Given the description of an element on the screen output the (x, y) to click on. 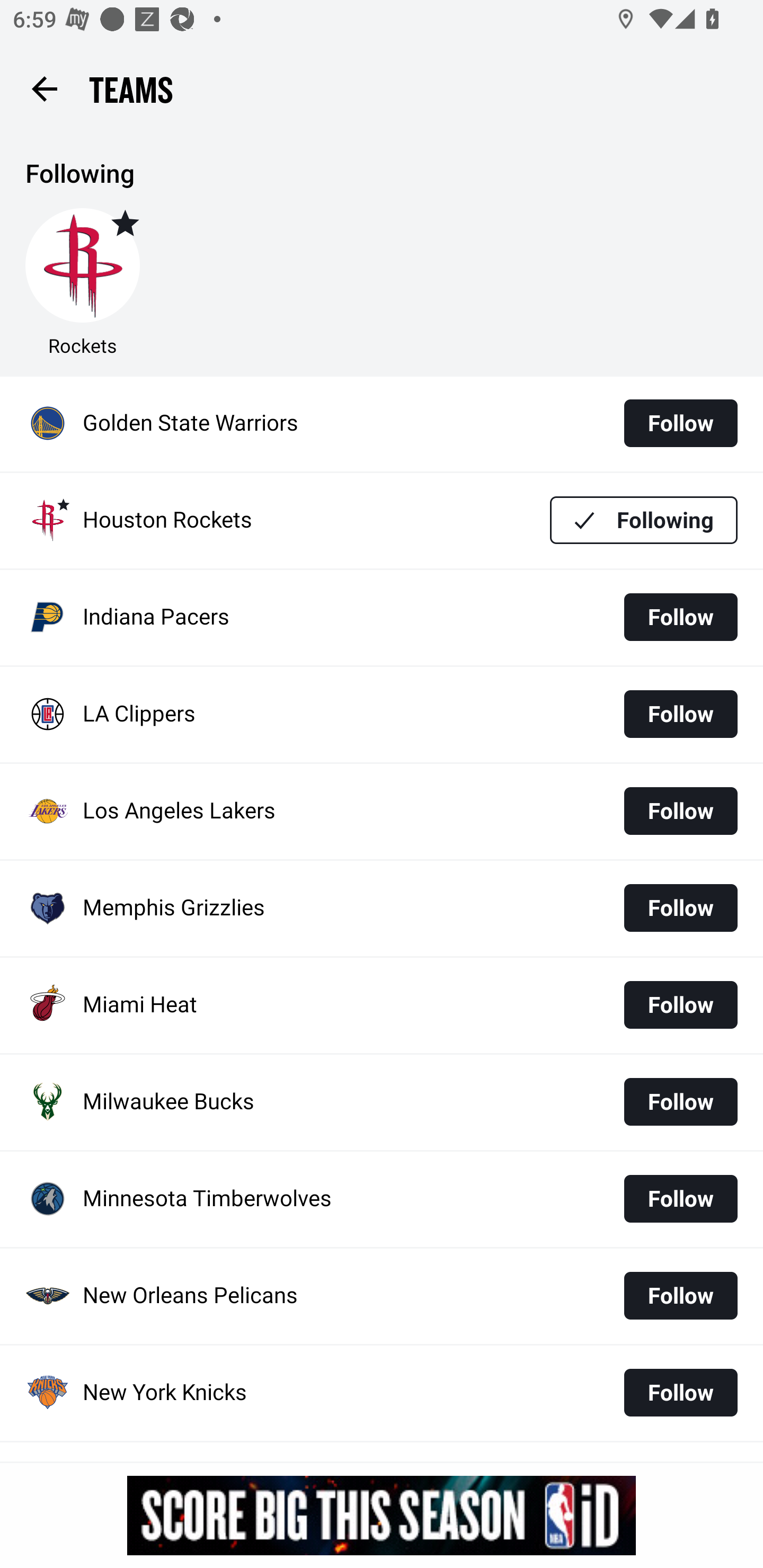
Back button (44, 88)
Golden State Warriors Follow (381, 423)
Follow (680, 422)
Houston Rockets Following (381, 520)
Following (643, 519)
Indiana Pacers Follow (381, 617)
Follow (680, 616)
LA Clippers Follow (381, 714)
Follow (680, 713)
Los Angeles Lakers Follow (381, 811)
Follow (680, 811)
Memphis Grizzlies Follow (381, 908)
Follow (680, 907)
Miami Heat Follow (381, 1005)
Follow (680, 1004)
Milwaukee Bucks Follow (381, 1102)
Follow (680, 1101)
Minnesota Timberwolves Follow (381, 1198)
Follow (680, 1198)
New Orleans Pelicans Follow (381, 1295)
Follow (680, 1295)
New York Knicks Follow (381, 1392)
Follow (680, 1392)
g5nqqygr7owph (381, 1515)
